Given the description of an element on the screen output the (x, y) to click on. 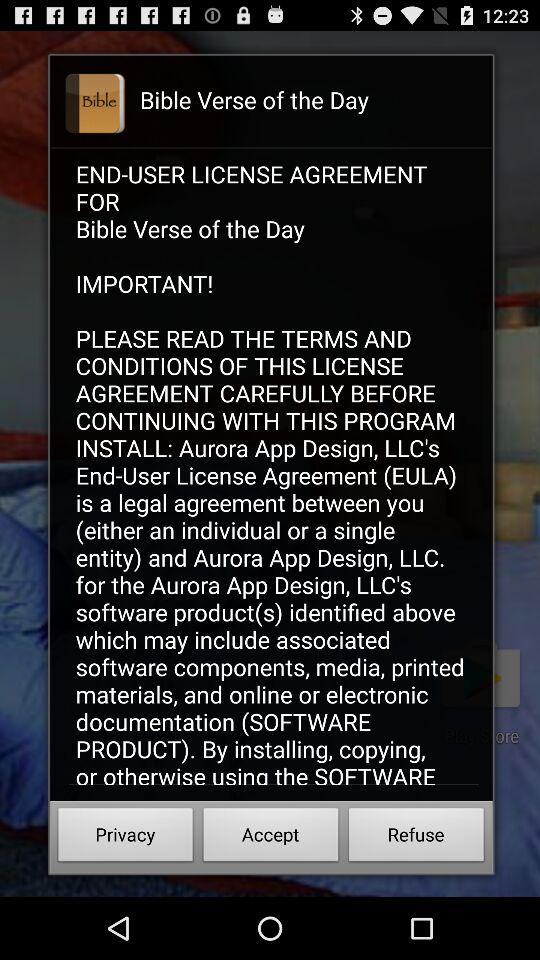
scroll to the privacy icon (125, 837)
